Given the description of an element on the screen output the (x, y) to click on. 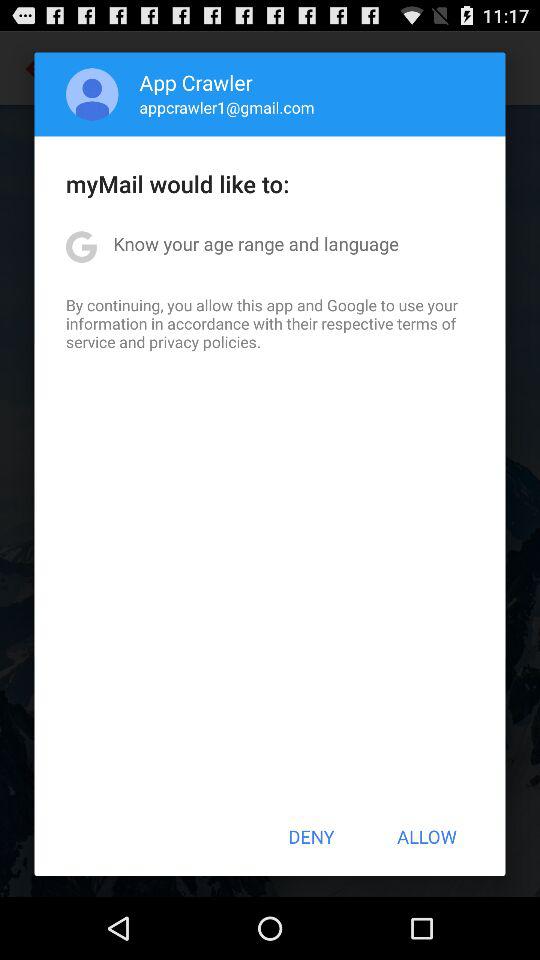
turn off item below the mymail would like icon (255, 243)
